Given the description of an element on the screen output the (x, y) to click on. 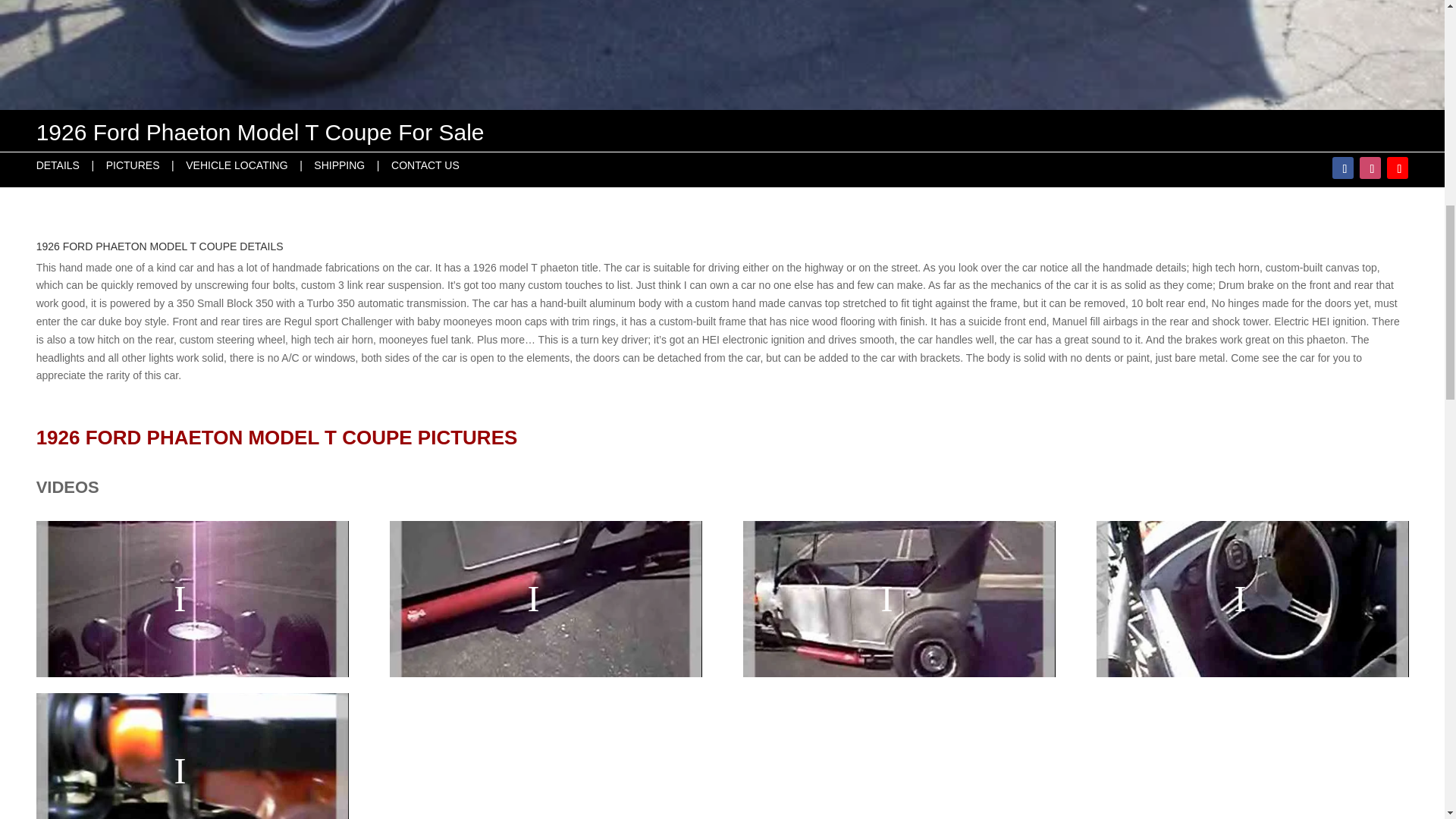
Follow on Youtube (1397, 168)
Follow on Facebook (1343, 168)
Follow on Instagram (1369, 168)
